Given the description of an element on the screen output the (x, y) to click on. 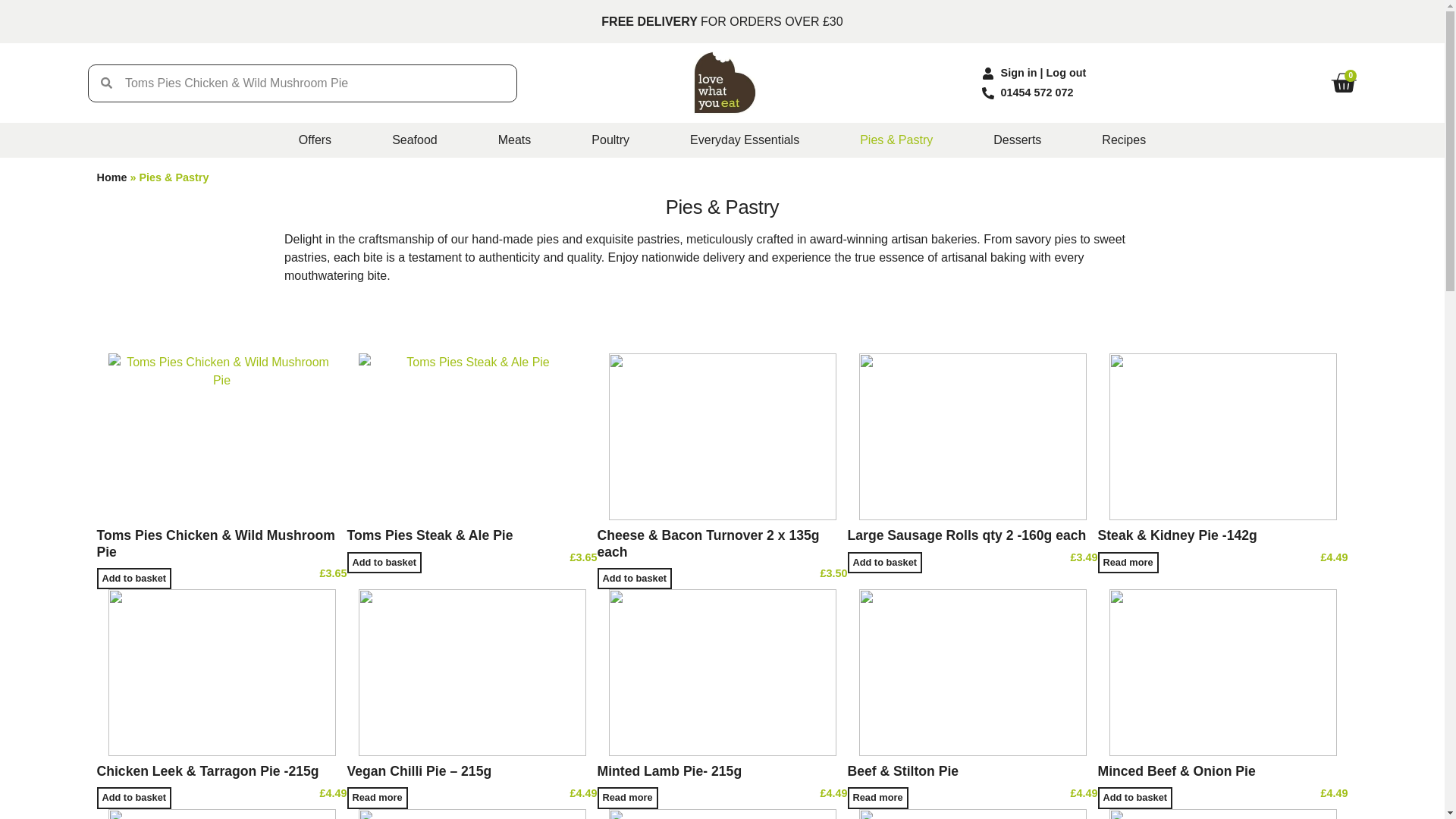
Poultry (609, 139)
Meats (514, 139)
Everyday Essentials (744, 139)
Recipes (1123, 139)
Desserts (1016, 139)
Offers (314, 139)
Seafood (414, 139)
